Given the description of an element on the screen output the (x, y) to click on. 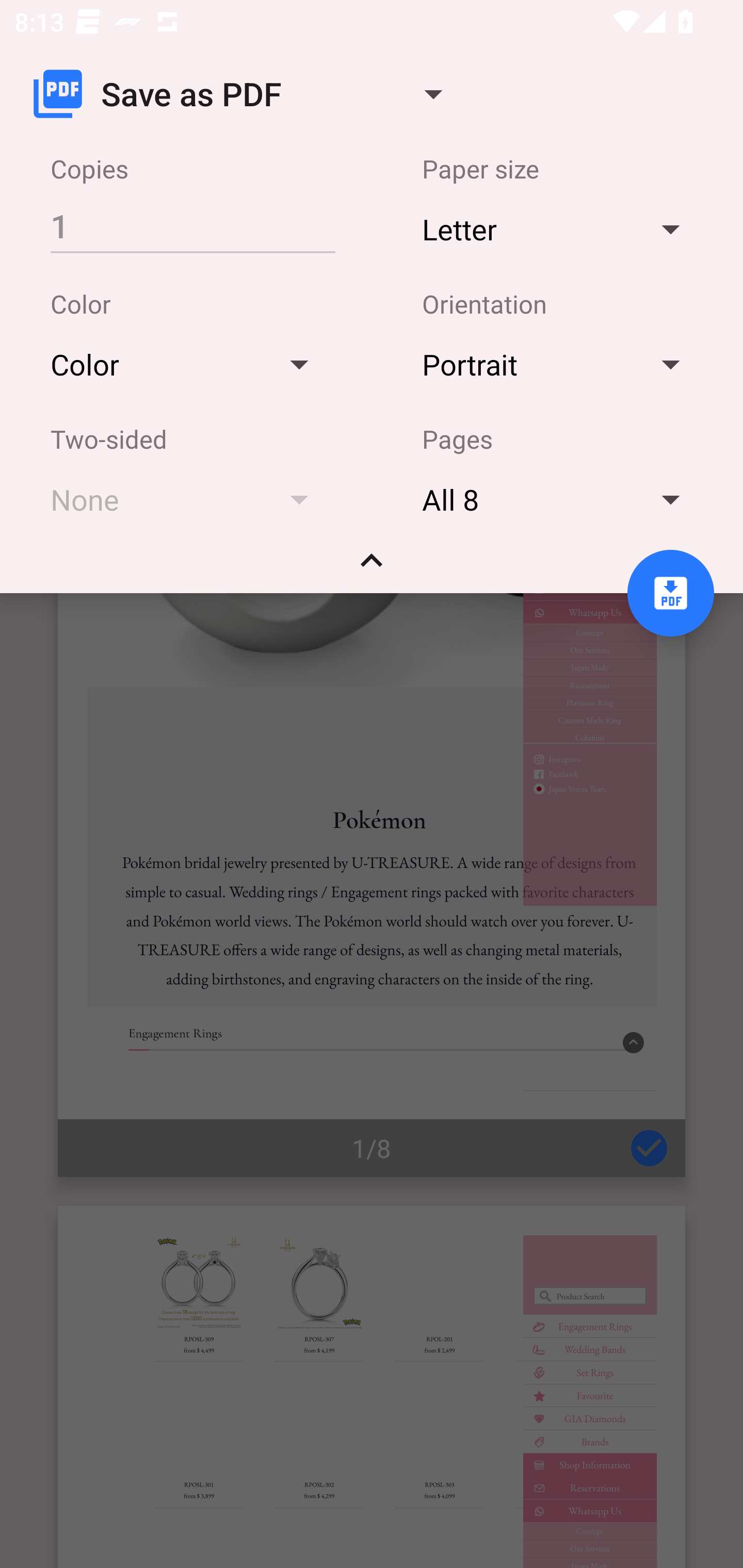
Save as PDF (245, 93)
1 (192, 225)
Letter (560, 228)
Color (189, 364)
Portrait (560, 364)
None (189, 499)
All 8 (560, 499)
Collapse handle (371, 567)
Save to PDF (670, 593)
